Given the description of an element on the screen output the (x, y) to click on. 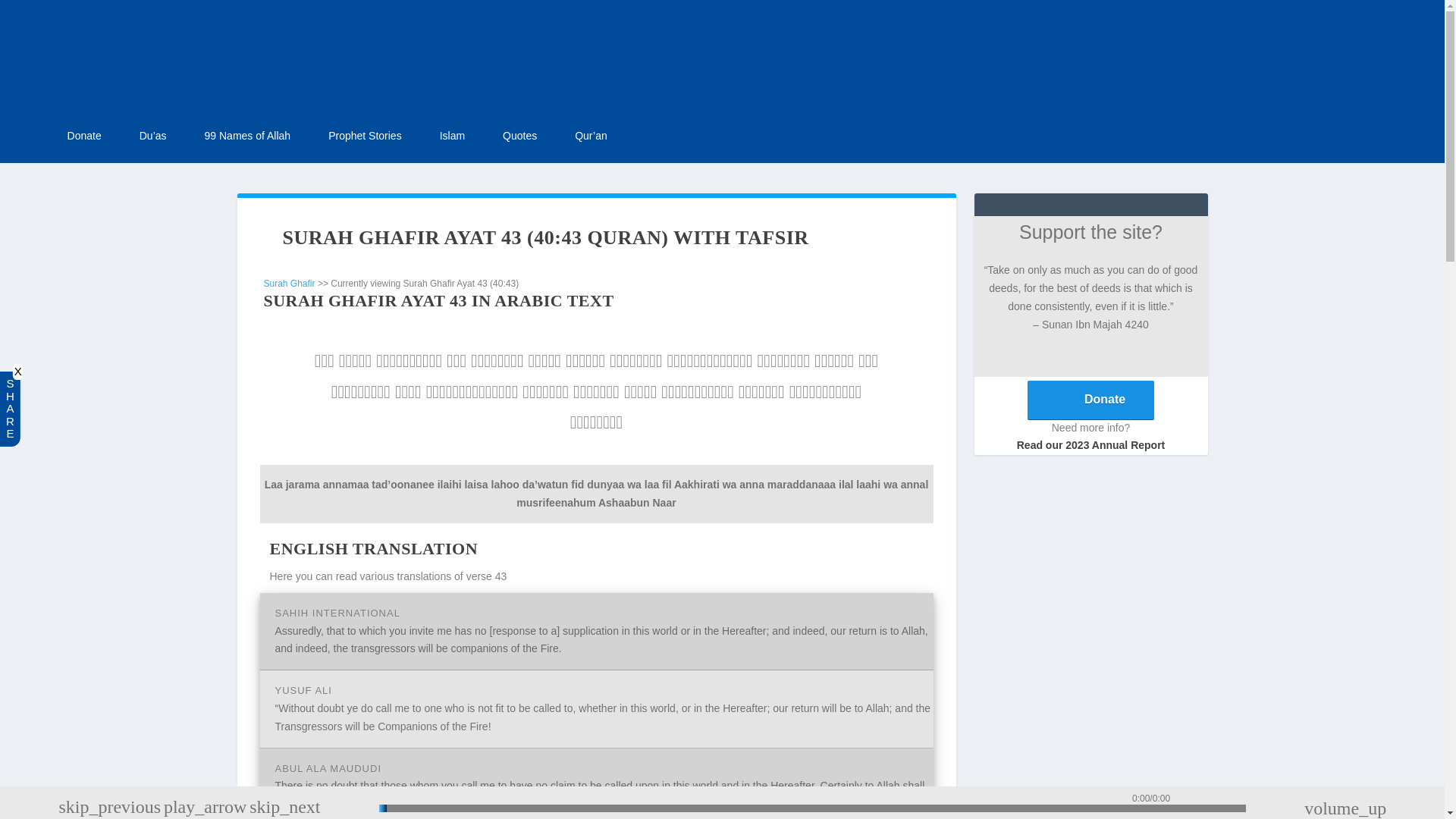
99 Names of Allah (248, 136)
Surah Ghafir (289, 283)
Prophet Stories (365, 136)
Quotes (519, 136)
Islam (451, 136)
Donate (83, 136)
